Given the description of an element on the screen output the (x, y) to click on. 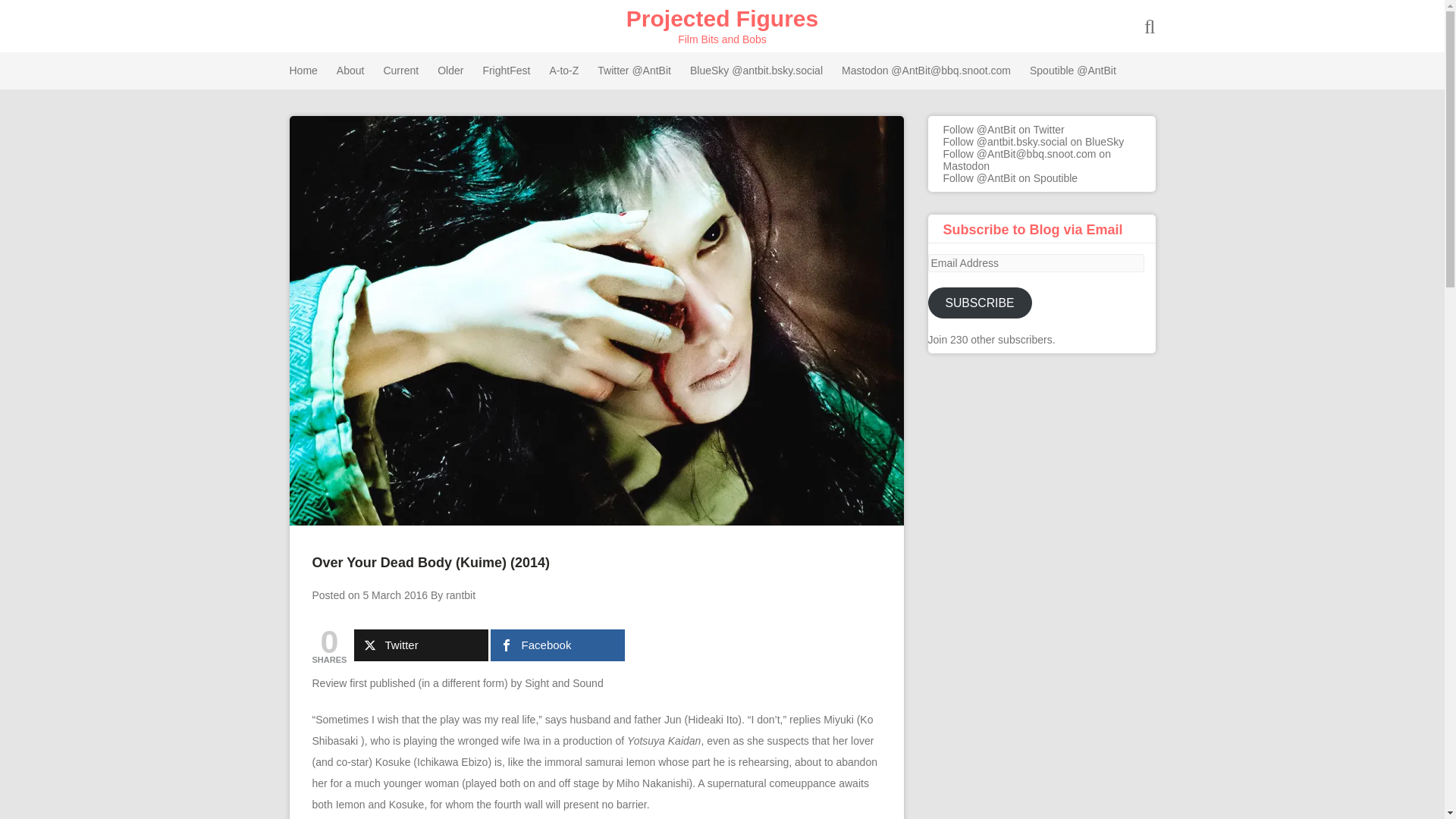
Film Bits and Bobs (722, 18)
Projected Figures (722, 18)
Current (400, 70)
FrightFest (505, 70)
